Given the description of an element on the screen output the (x, y) to click on. 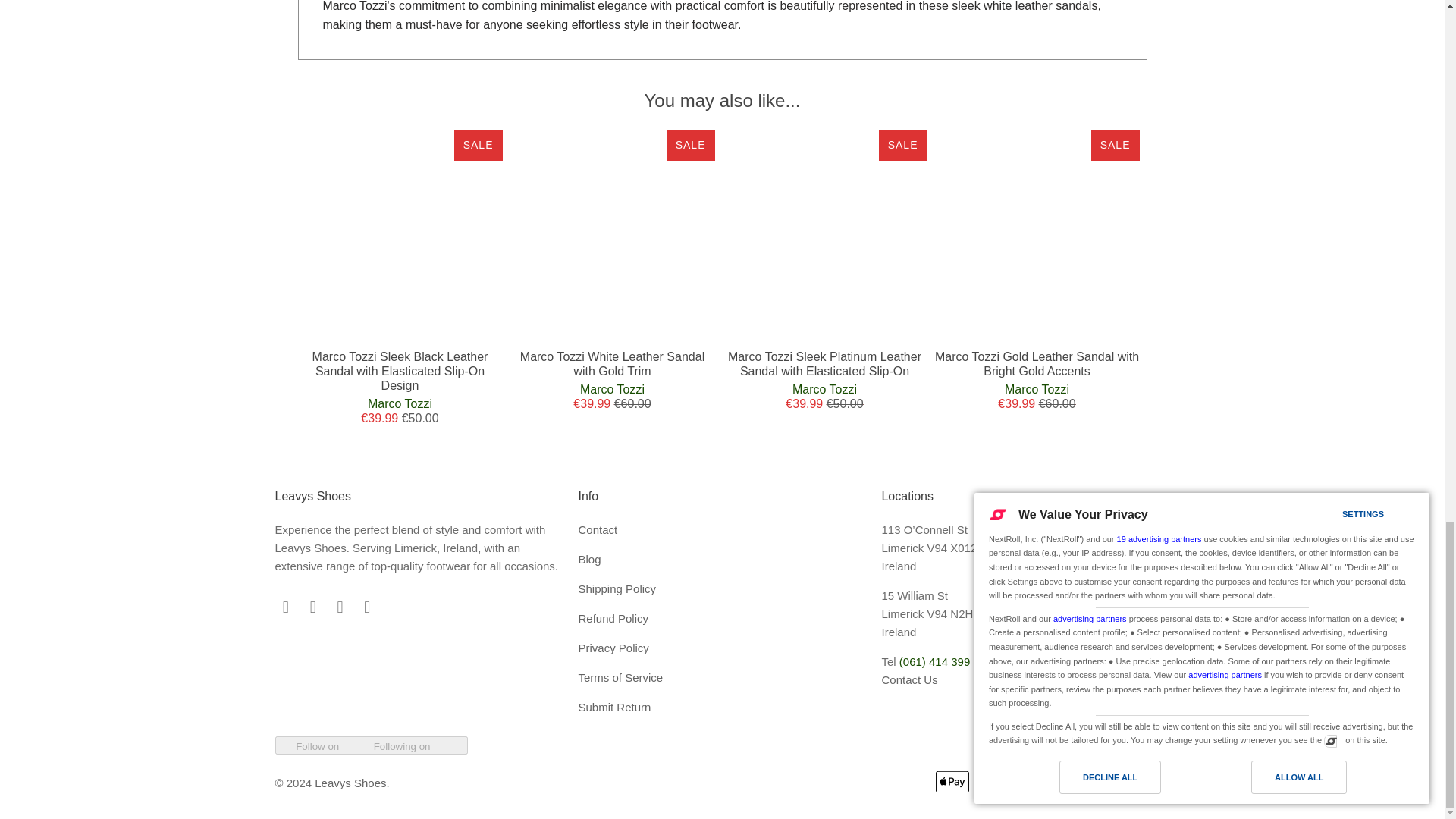
Visa (1150, 781)
Leavys Shoes on Instagram (340, 607)
Email Leavys Shoes (286, 607)
Maestro (1032, 781)
Mastercard (1072, 781)
Apple Pay (954, 781)
Google Pay (993, 781)
Leavys Shoes on Facebook (312, 607)
Shop Pay (1111, 781)
